Given the description of an element on the screen output the (x, y) to click on. 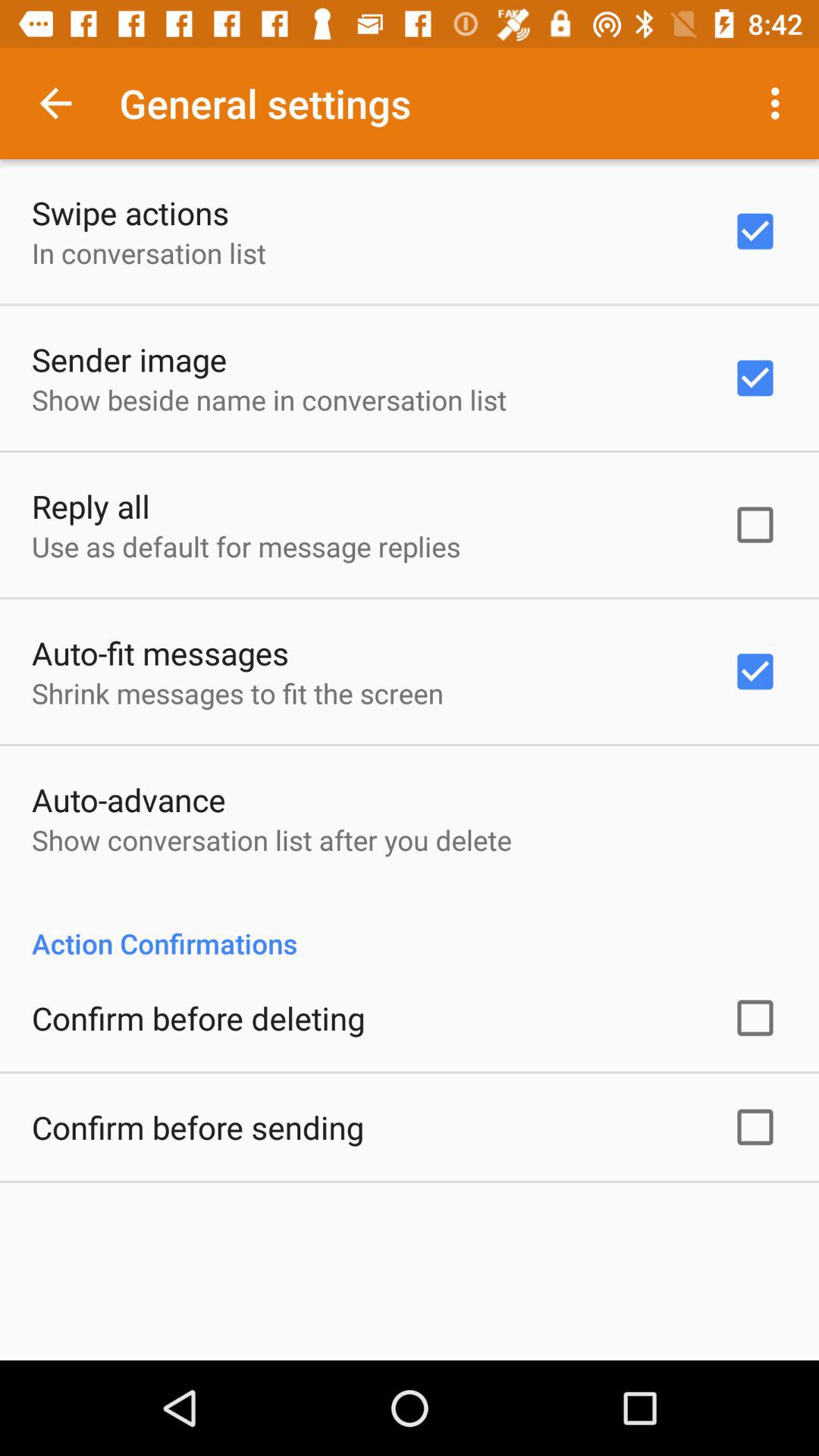
scroll to use as default (245, 546)
